Given the description of an element on the screen output the (x, y) to click on. 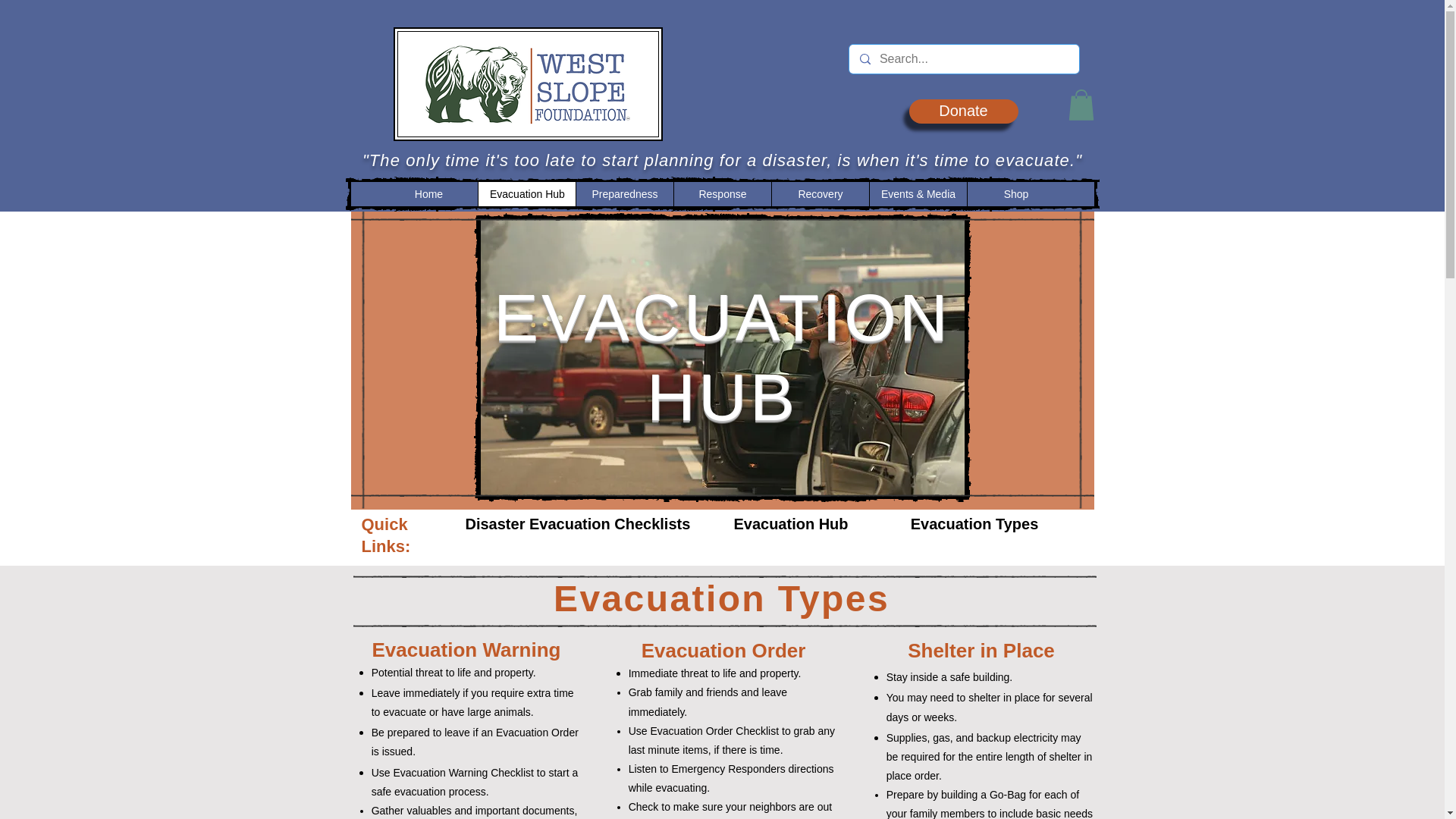
Evacuation Hub (526, 193)
Response (721, 193)
Evacuation Types (974, 524)
Preparedness (623, 193)
Home (428, 193)
Donate (962, 111)
Recovery (820, 193)
Shop (1015, 193)
Evacuation Hub (791, 524)
Disaster Evacuation Checklists (577, 524)
